Given the description of an element on the screen output the (x, y) to click on. 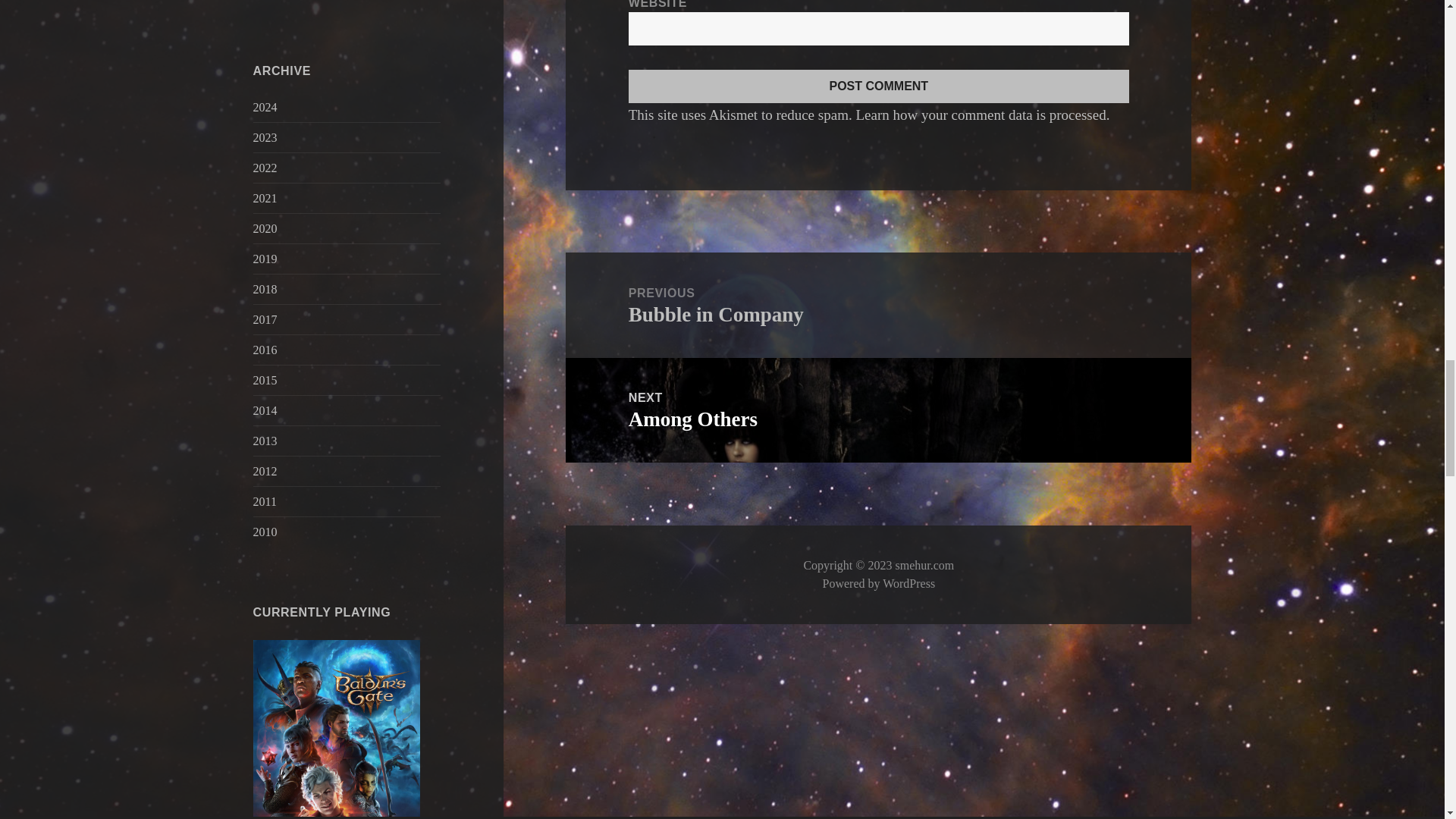
Post Comment (878, 86)
